Given the description of an element on the screen output the (x, y) to click on. 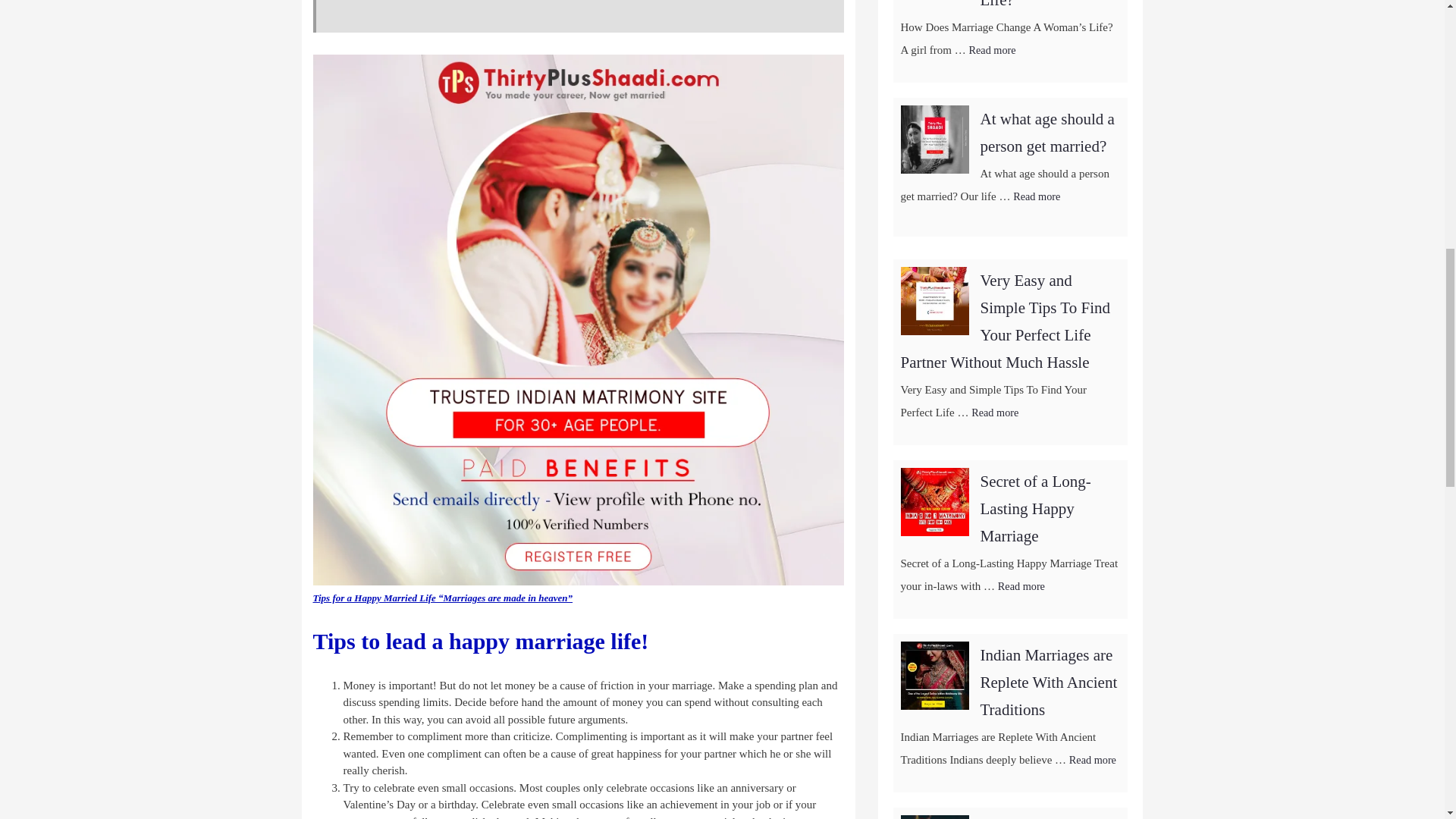
Read more (992, 50)
At what age should a person get married? (1046, 132)
Tips to lead a happy marriage life! (480, 640)
Read more (1036, 196)
Read more (994, 412)
